Given the description of an element on the screen output the (x, y) to click on. 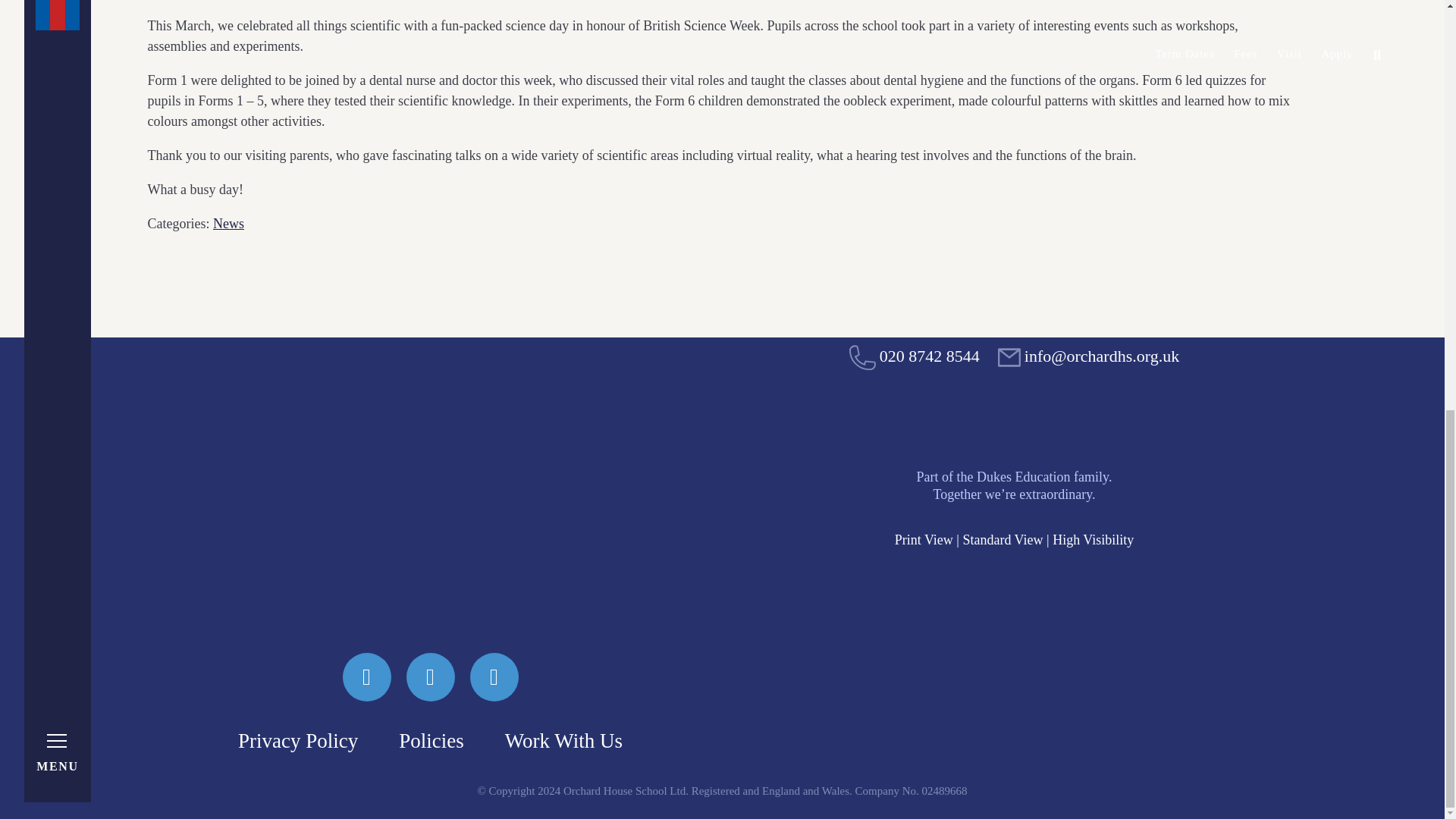
Switch to High Visibility (1093, 539)
Phone (913, 354)
View all posts in News (228, 222)
Switch to Print (924, 539)
Email (1088, 354)
Switch to Standard Visibility (1002, 539)
